Given the description of an element on the screen output the (x, y) to click on. 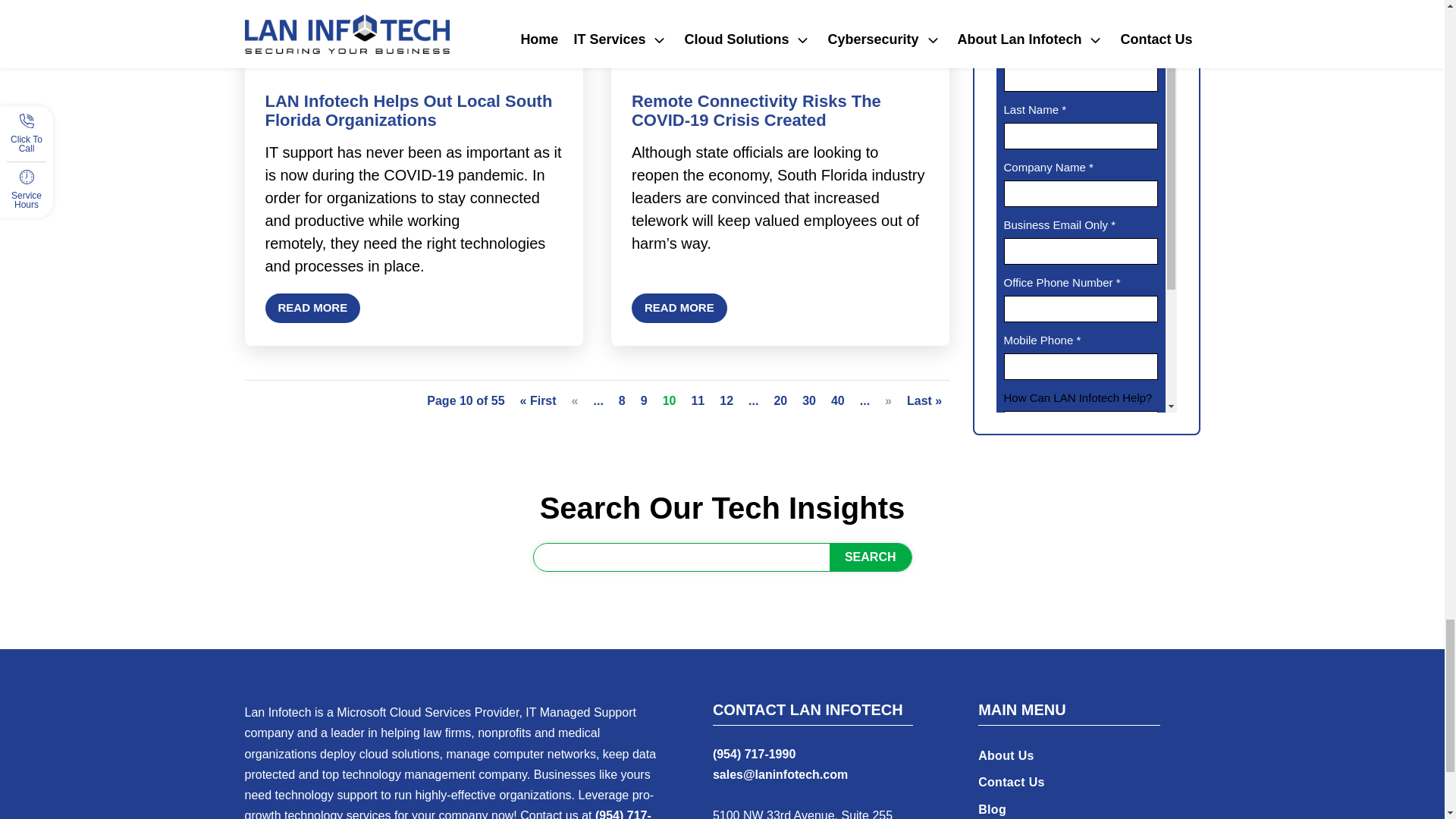
Page 40 (837, 401)
Page 11 (697, 401)
Page 12 (726, 401)
Page 30 (808, 401)
Search (870, 556)
Search (870, 556)
Page 20 (780, 401)
